Given the description of an element on the screen output the (x, y) to click on. 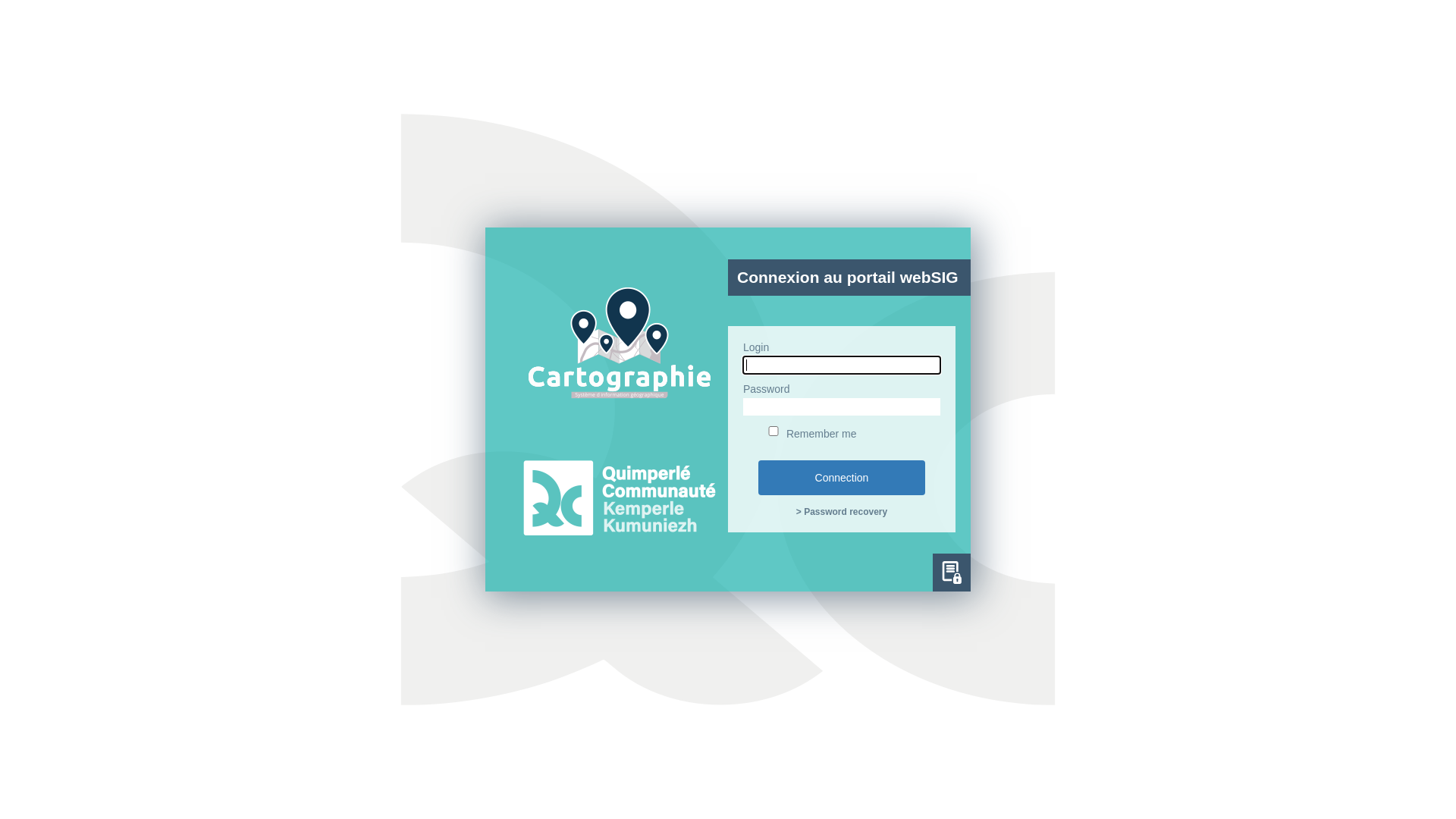
Connection Element type: text (841, 477)
> Password recovery Element type: text (841, 511)
